Given the description of an element on the screen output the (x, y) to click on. 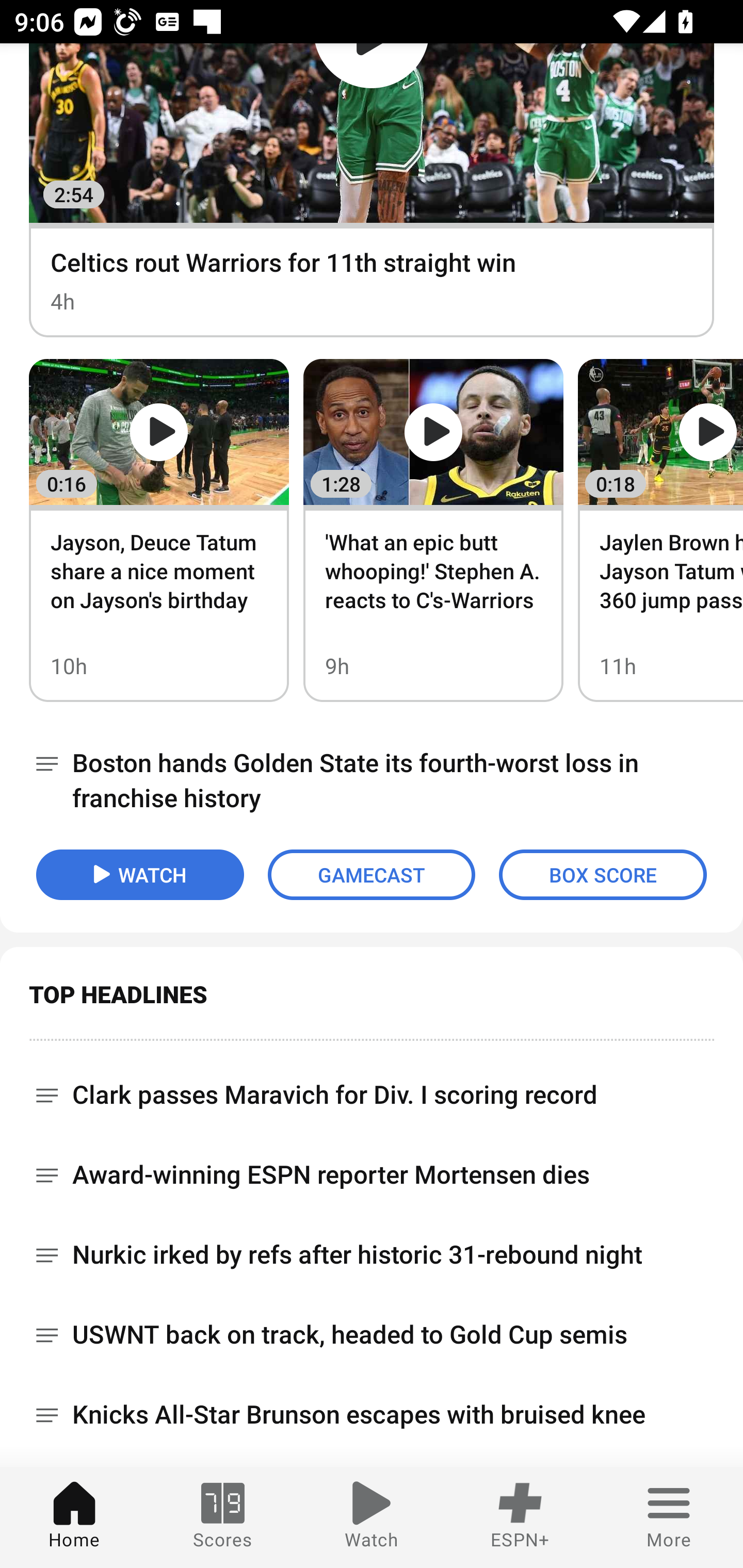
 WATCH (139, 874)
GAMECAST (371, 874)
BOX SCORE (602, 874)
 Clark passes Maravich for Div. I scoring record (371, 1088)
 Award-winning ESPN reporter Mortensen dies (371, 1175)
 USWNT back on track, headed to Gold Cup semis (371, 1335)
Scores (222, 1517)
Watch (371, 1517)
ESPN+ (519, 1517)
More (668, 1517)
